Given the description of an element on the screen output the (x, y) to click on. 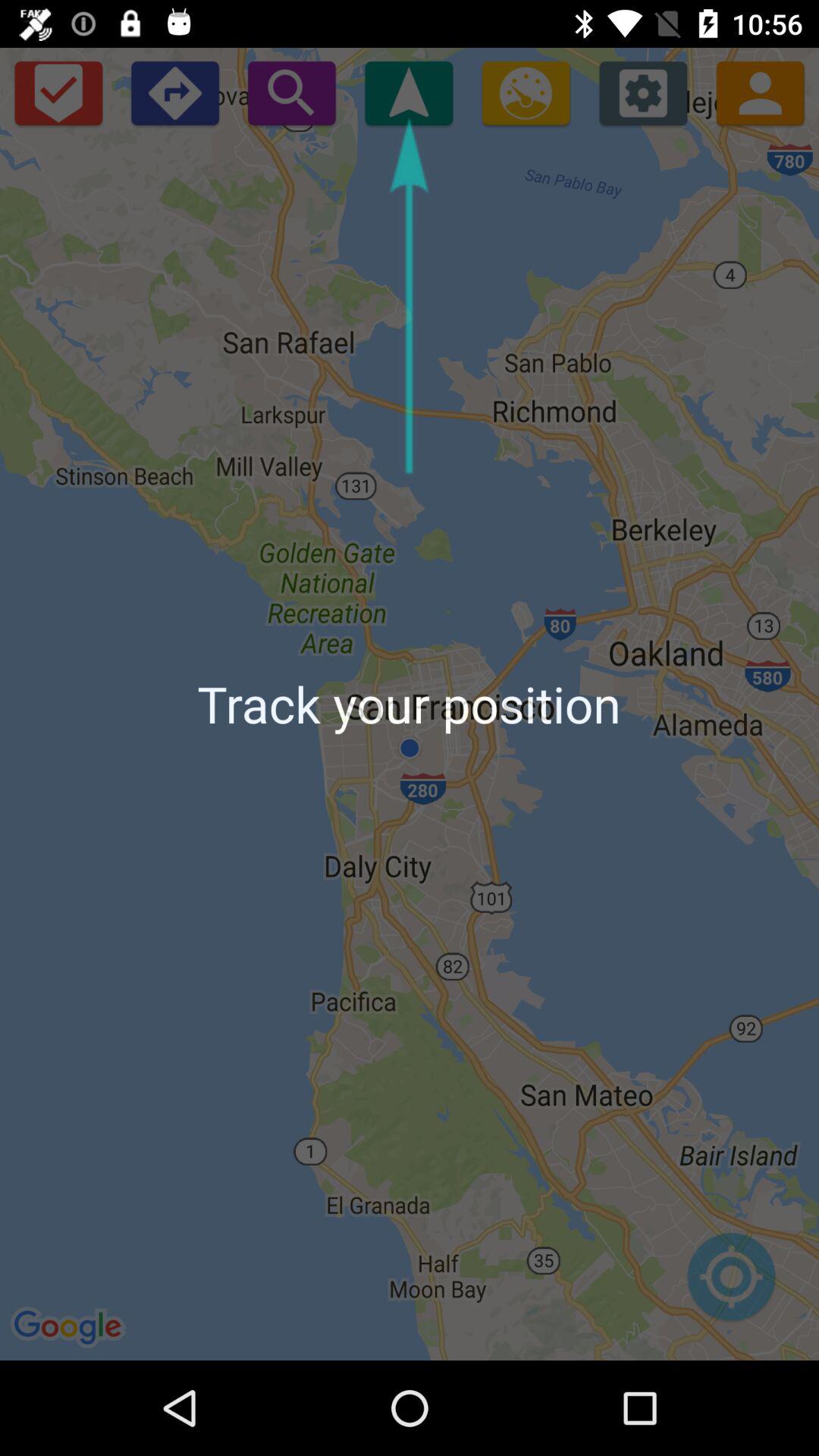
look up directions (174, 92)
